Given the description of an element on the screen output the (x, y) to click on. 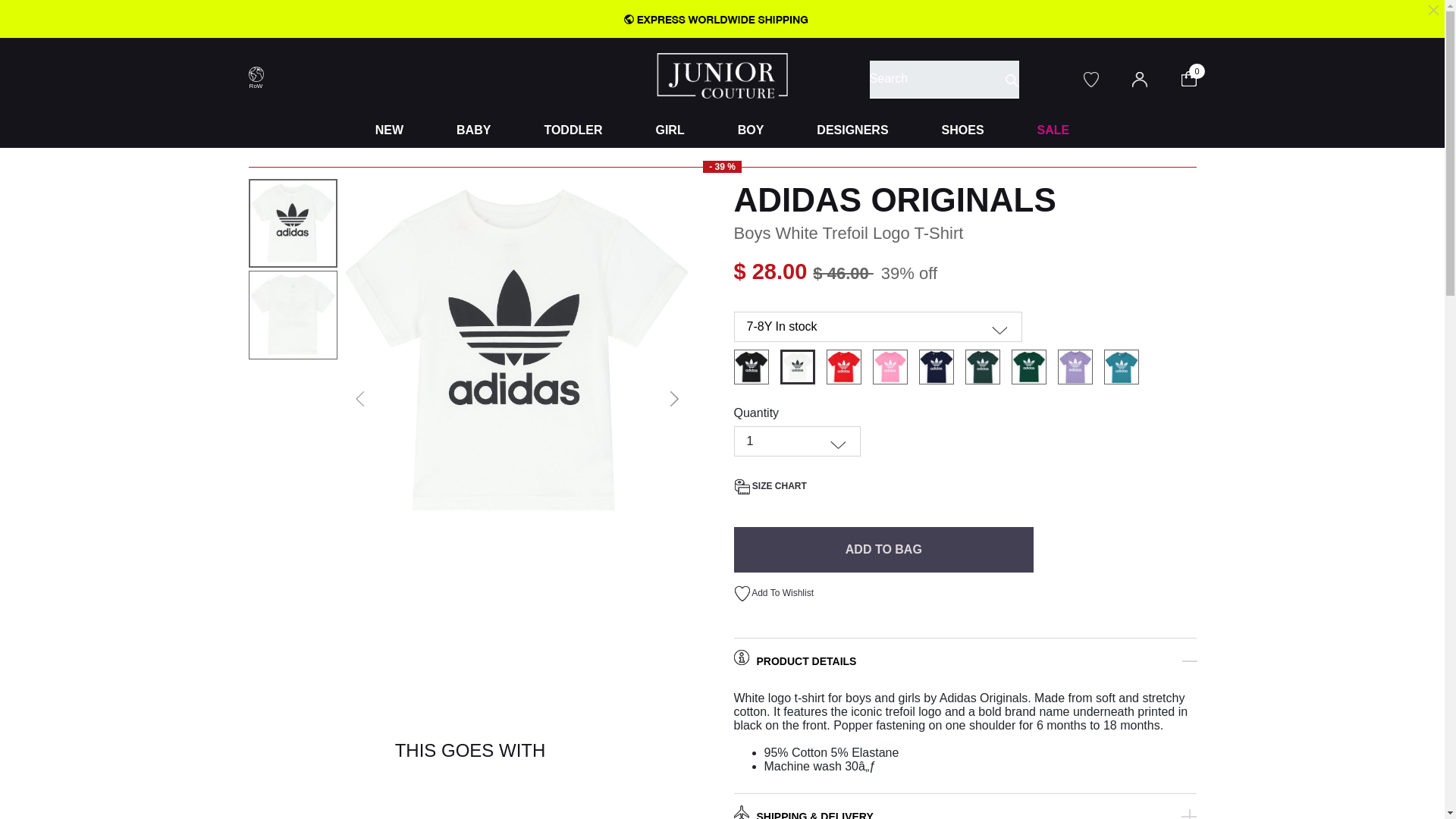
adidas Originals White Adilitte Lite Sliders, 1 (551, 811)
BABY (473, 130)
adidas Originals White Superstar Trainers, 1 (389, 811)
Cart 0 Items (1197, 77)
0 (1197, 77)
Juniour Couture Home (721, 74)
